Given the description of an element on the screen output the (x, y) to click on. 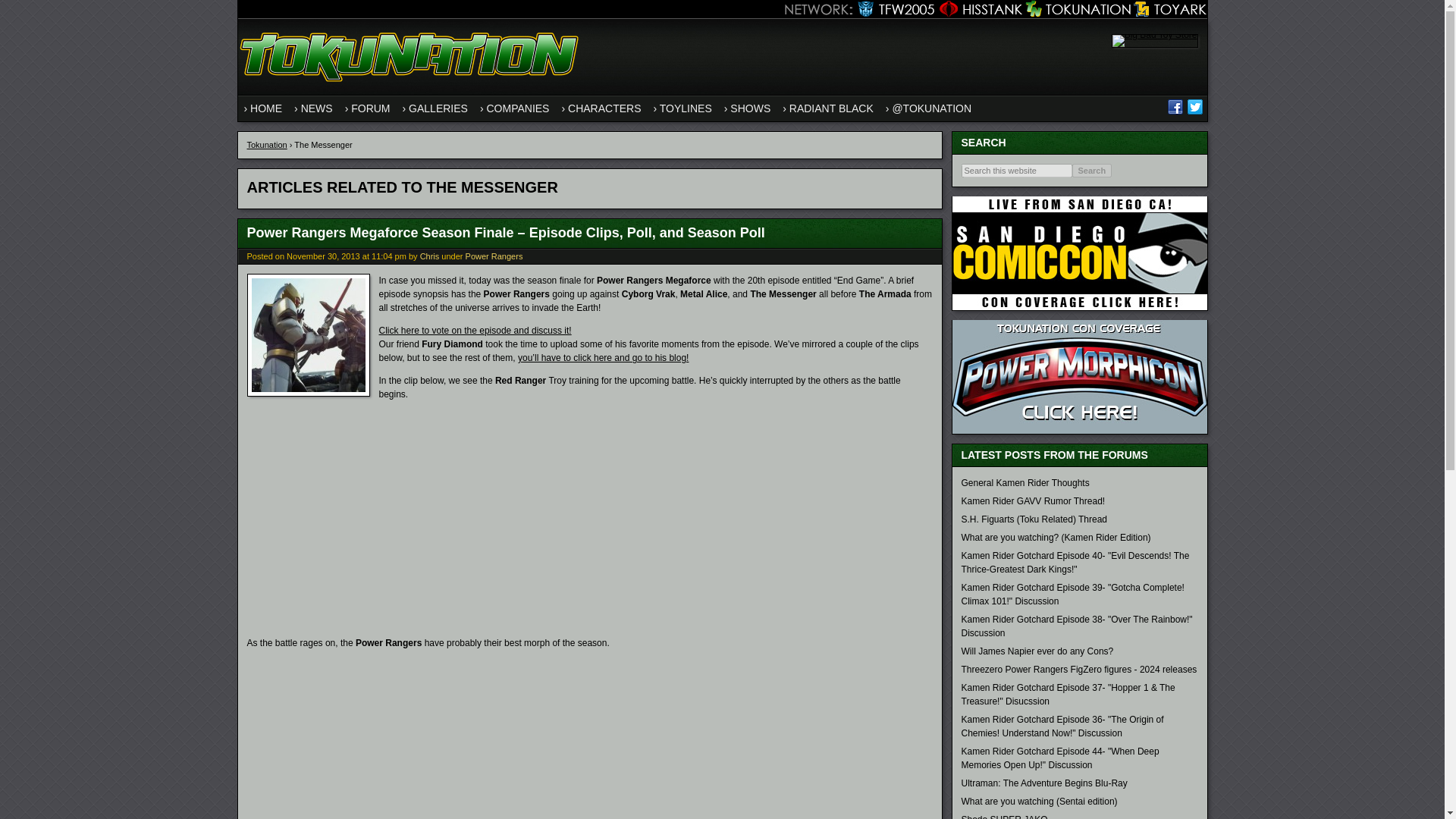
NEWS (313, 108)
Visit TFW2005.com for Transformers (891, 9)
Search (1091, 170)
TOYLINES (681, 108)
COMPANIES (515, 108)
Power Morphicon 2014 (1079, 430)
CHARACTERS (600, 108)
Visit Toyark.com for Action Figures and Toys (1169, 9)
SDCC (1079, 253)
Visit HissTank.com for G.I. Joe (978, 9)
Power Morphicon (1079, 377)
FORUM (367, 108)
SHOWS (746, 108)
Search (1091, 170)
HOME (263, 108)
